Given the description of an element on the screen output the (x, y) to click on. 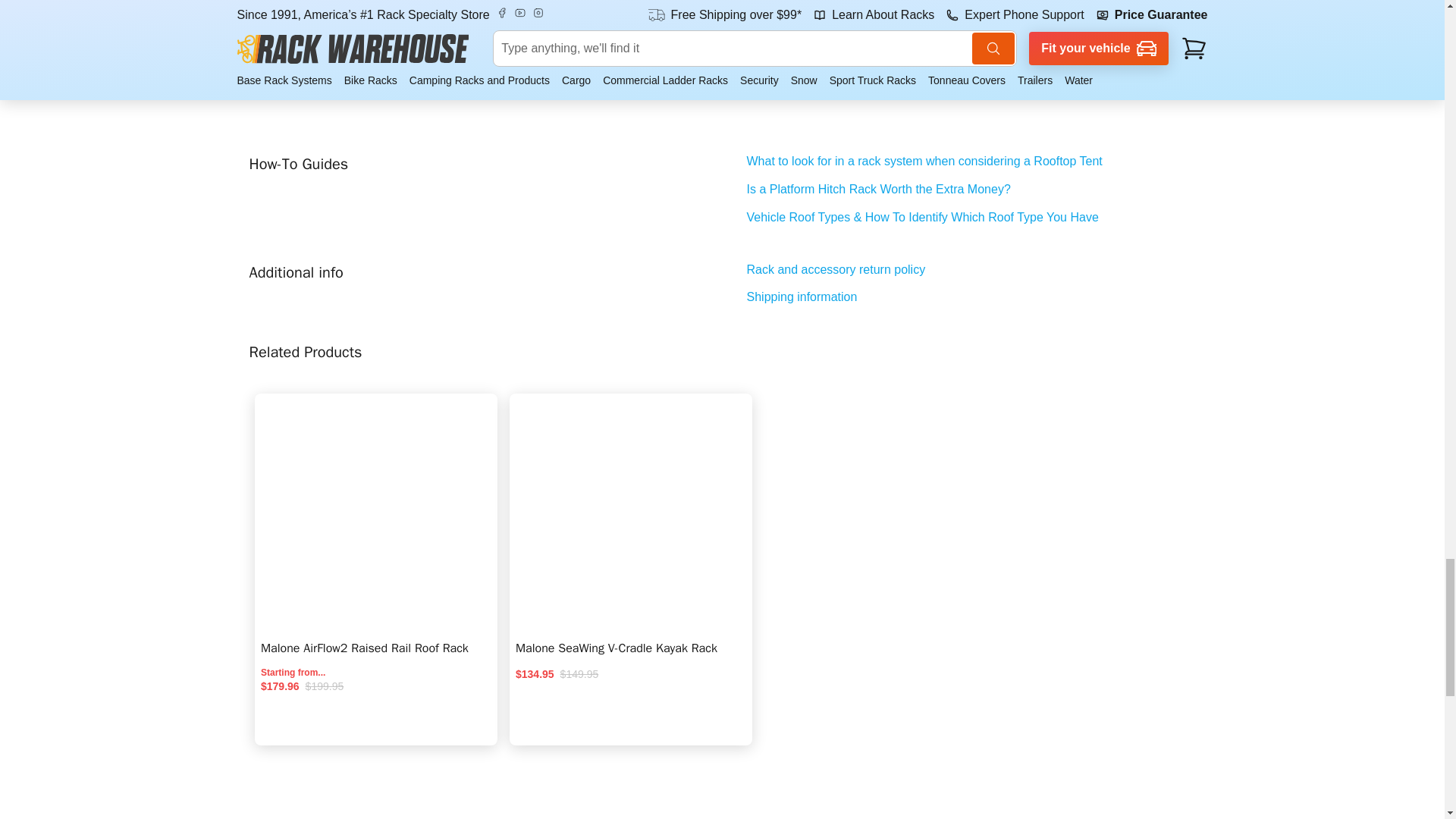
Rack and accessory return policy (970, 270)
Is a Platform Hitch Rack Worth the Extra Money? (970, 189)
Read more reviews (415, 3)
Shipping information (970, 297)
